Given the description of an element on the screen output the (x, y) to click on. 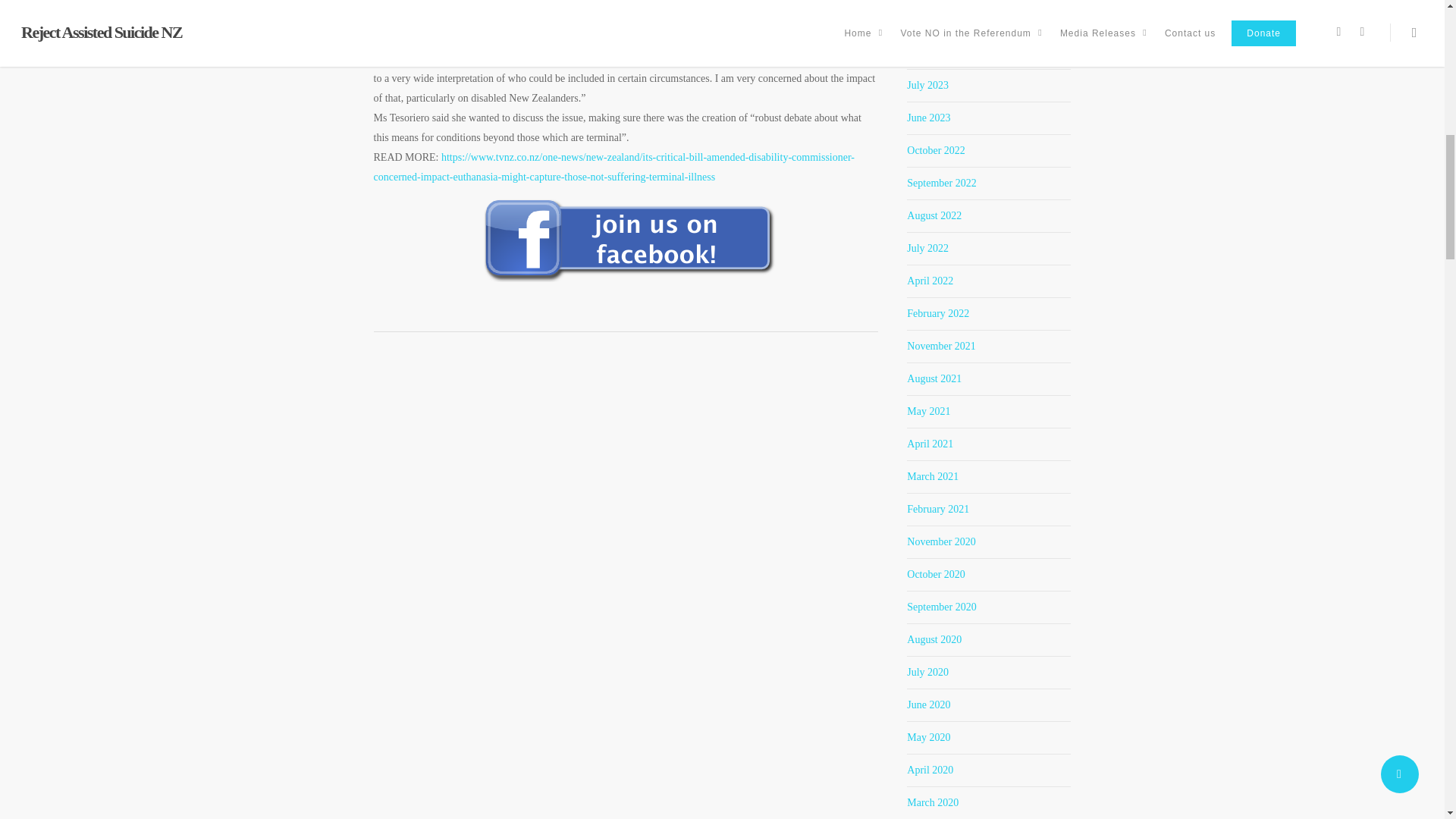
Submission of the Disability Rights Commissioner (608, 29)
July 2023 (928, 84)
August 2023 (933, 52)
October 2023 (936, 19)
